Given the description of an element on the screen output the (x, y) to click on. 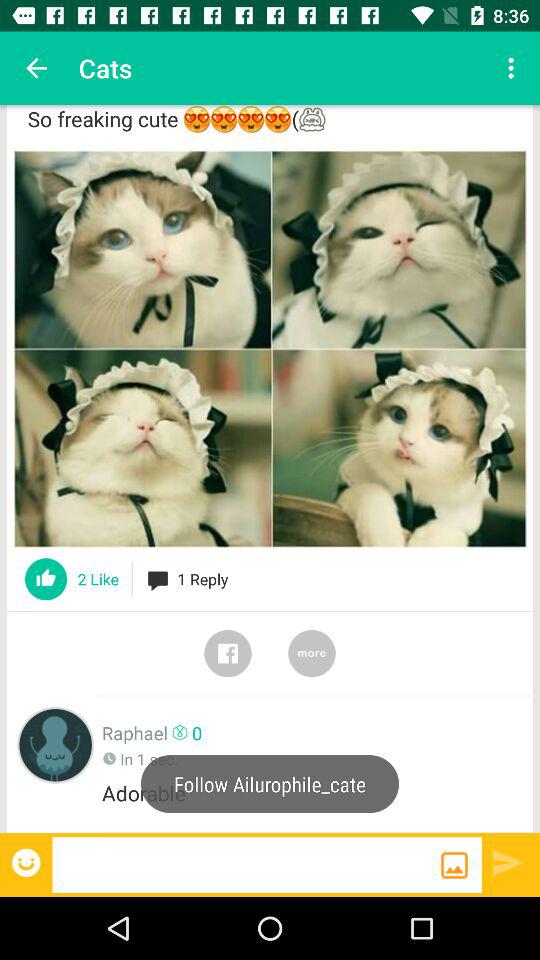
send button (508, 862)
